Given the description of an element on the screen output the (x, y) to click on. 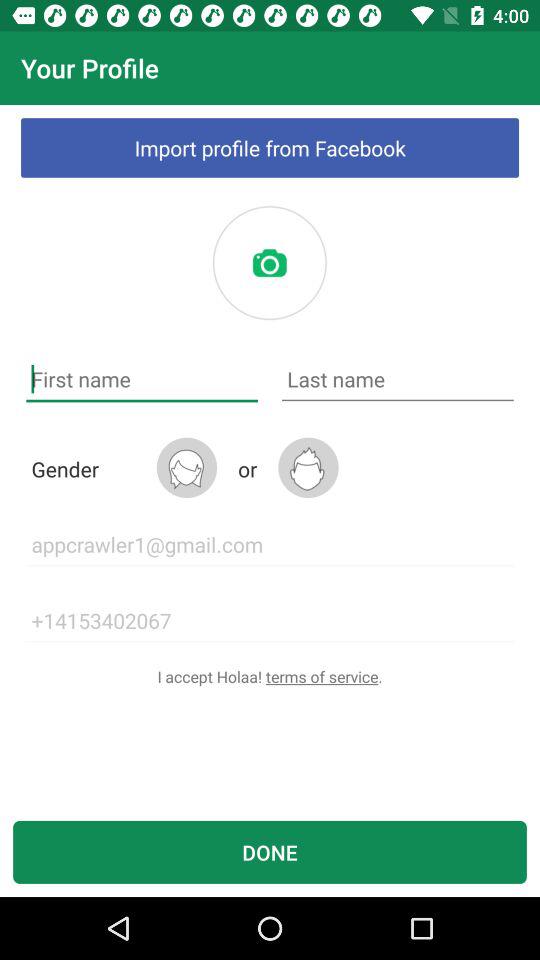
launch icon above the i accept holaa icon (270, 620)
